Given the description of an element on the screen output the (x, y) to click on. 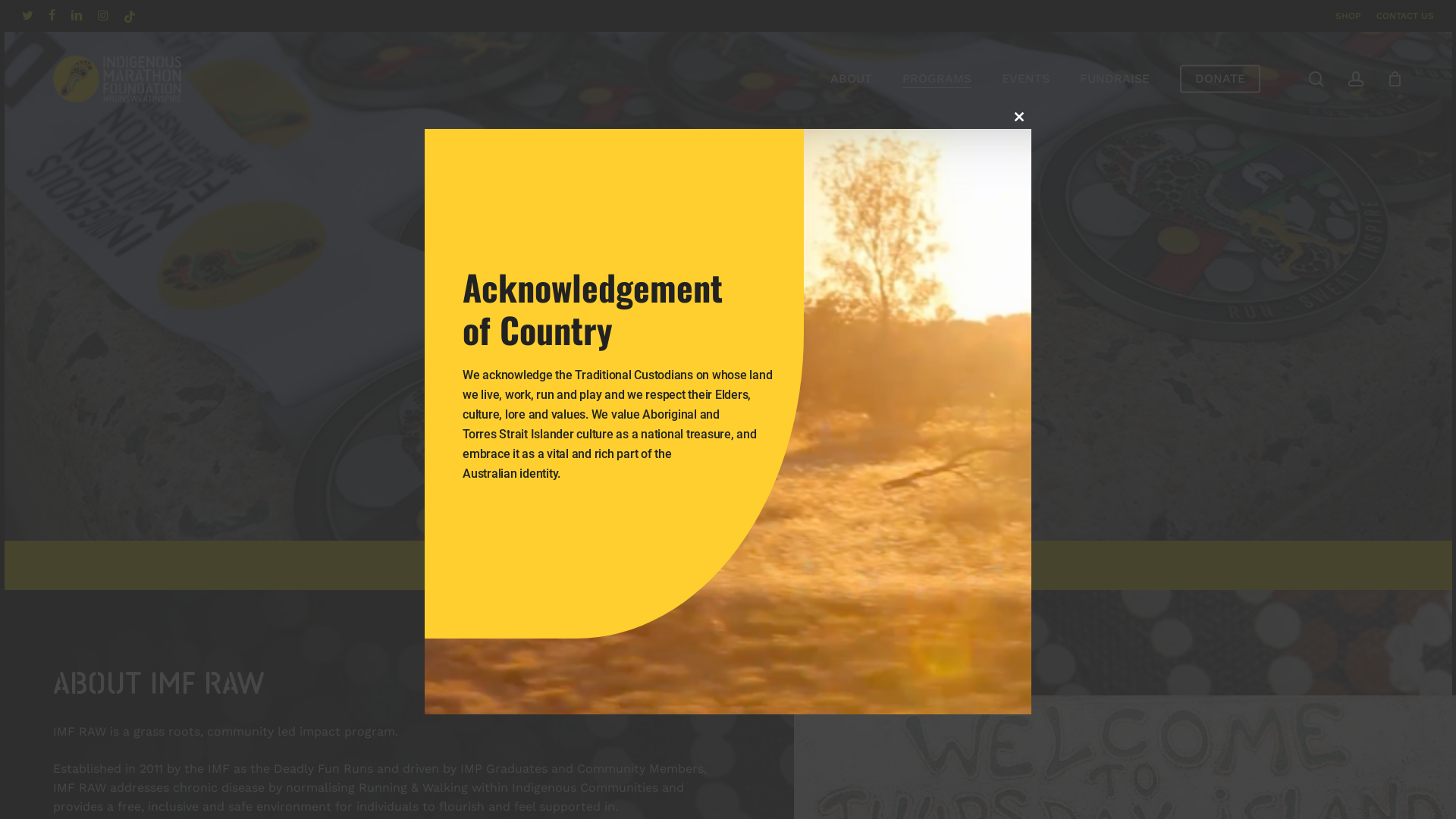
DONATE Element type: text (1219, 78)
EVENTS Element type: text (1025, 78)
PROGRAMS Element type: text (936, 78)
facebook Element type: text (51, 15)
search Element type: text (1316, 79)
linkedin Element type: text (76, 15)
CONTACT US Element type: text (1405, 15)
SOCIALS Element type: text (844, 564)
Close this module Element type: text (1019, 116)
ABOUT Element type: text (586, 564)
account Element type: text (1355, 79)
EVENTS Element type: text (775, 564)
instagram Element type: text (102, 15)
ABOUT Element type: text (851, 78)
tiktok Element type: text (129, 15)
FUNDRAISE Element type: text (1114, 78)
SHOP Element type: text (1348, 15)
IMF RAW GROUPS Element type: text (679, 564)
twitter Element type: text (27, 15)
